Given the description of an element on the screen output the (x, y) to click on. 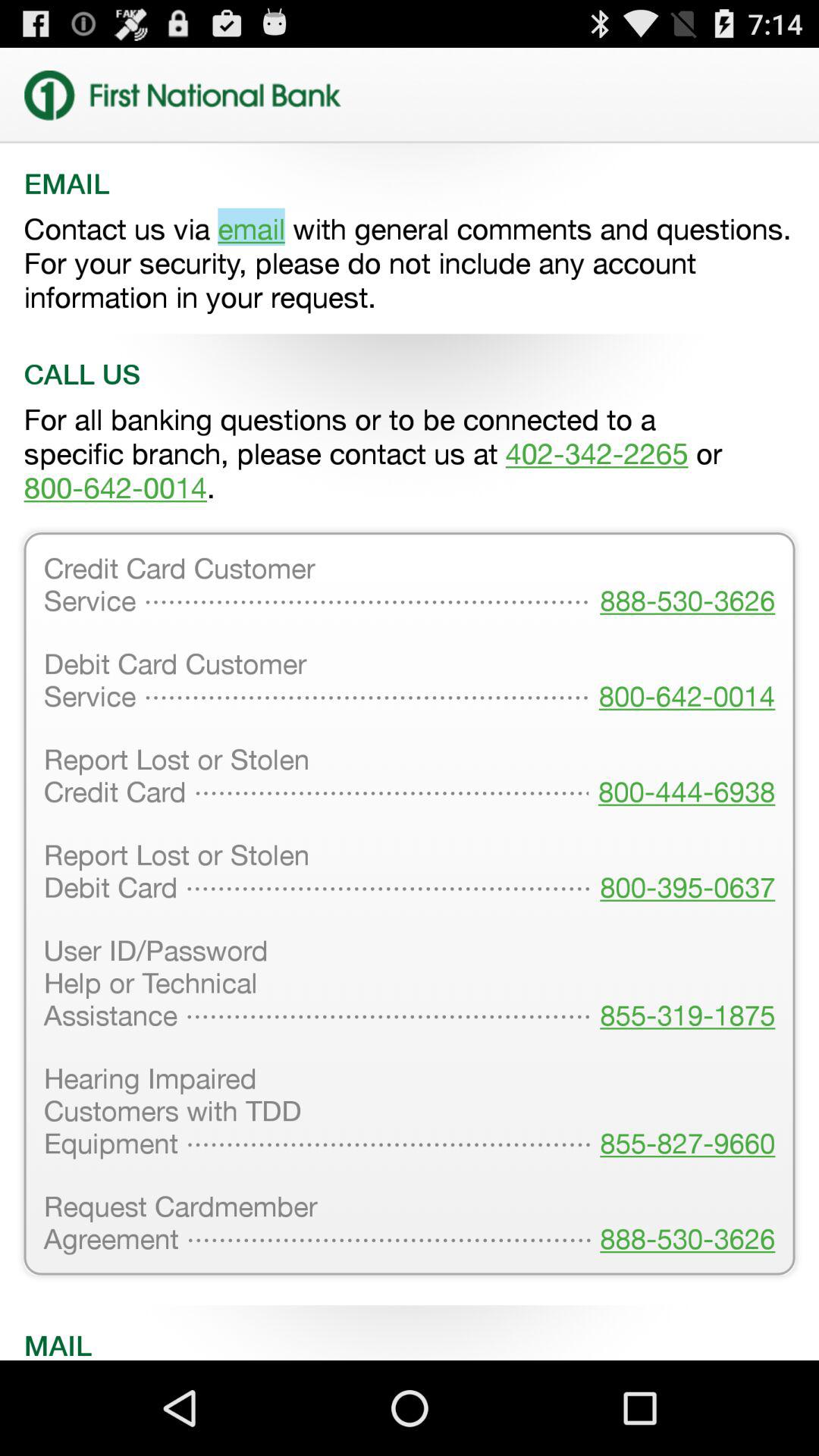
launch the item above hearing impaired customers (682, 984)
